Given the description of an element on the screen output the (x, y) to click on. 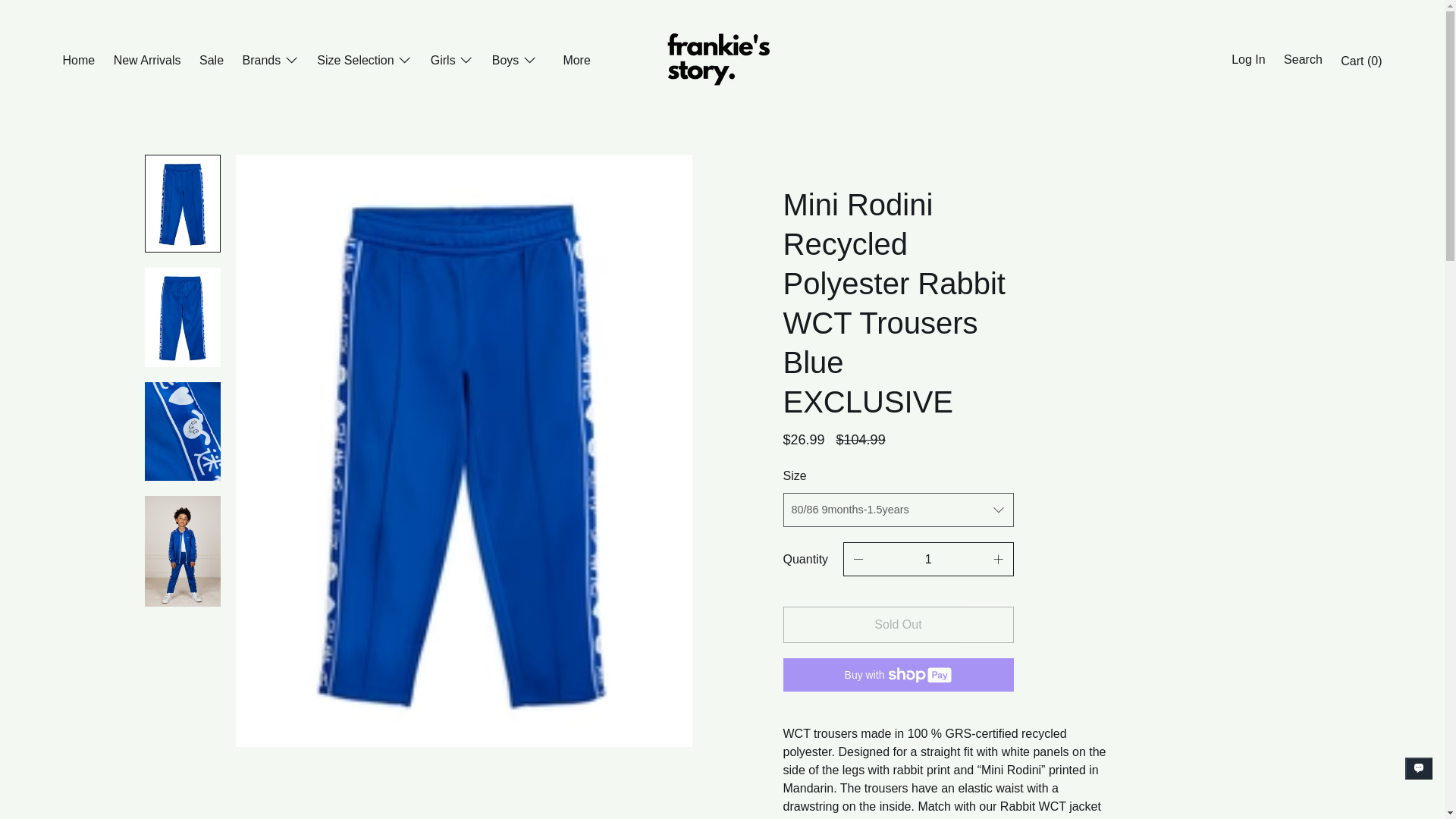
New Arrivals (147, 61)
Search (1303, 60)
Girls (452, 61)
More (576, 61)
Home (78, 61)
Boys (514, 61)
Brands (269, 61)
Log In (1248, 60)
Size Selection (363, 61)
Sale (211, 61)
1 (927, 558)
